Given the description of an element on the screen output the (x, y) to click on. 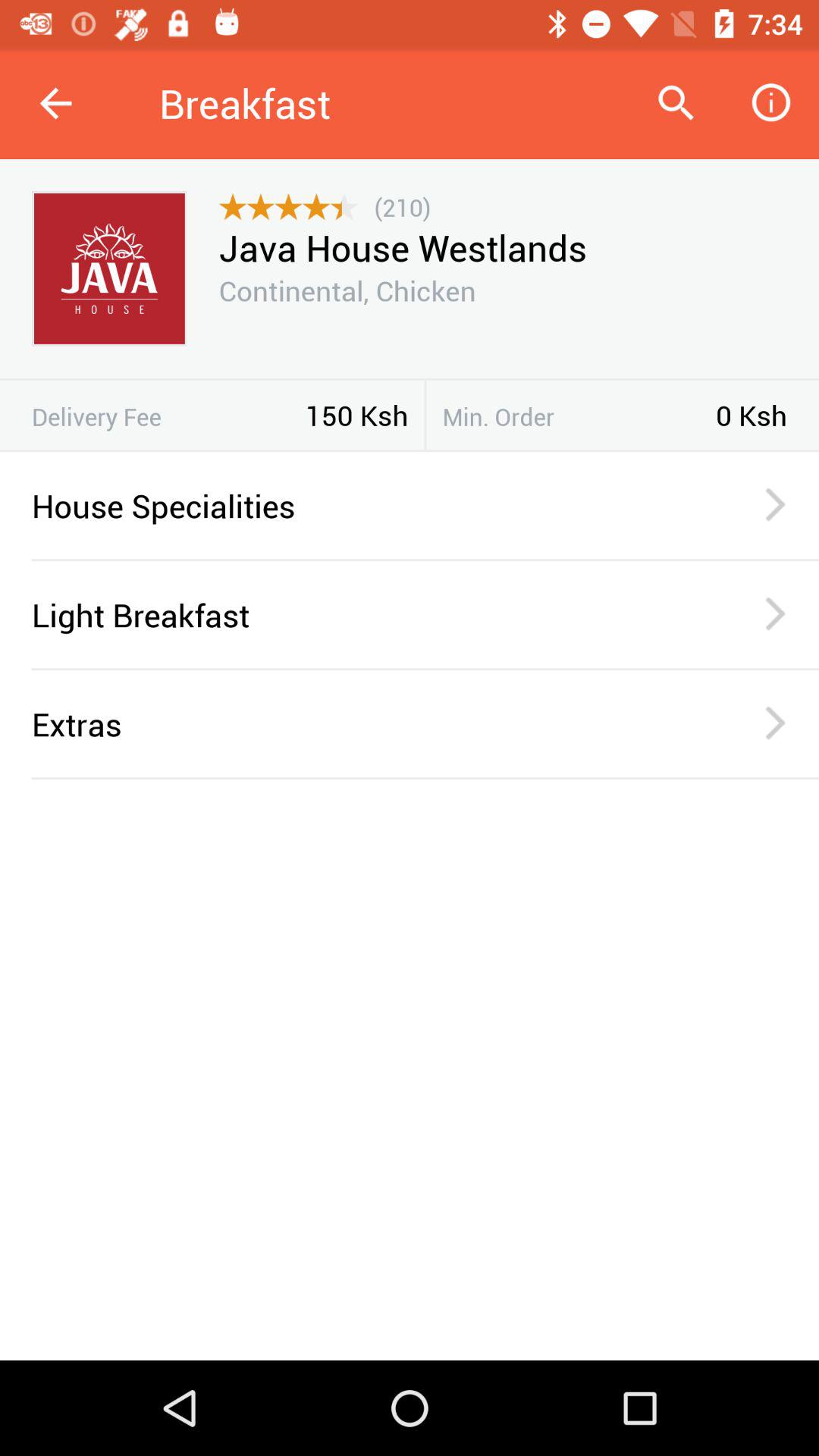
jump to the house specialities (365, 505)
